Given the description of an element on the screen output the (x, y) to click on. 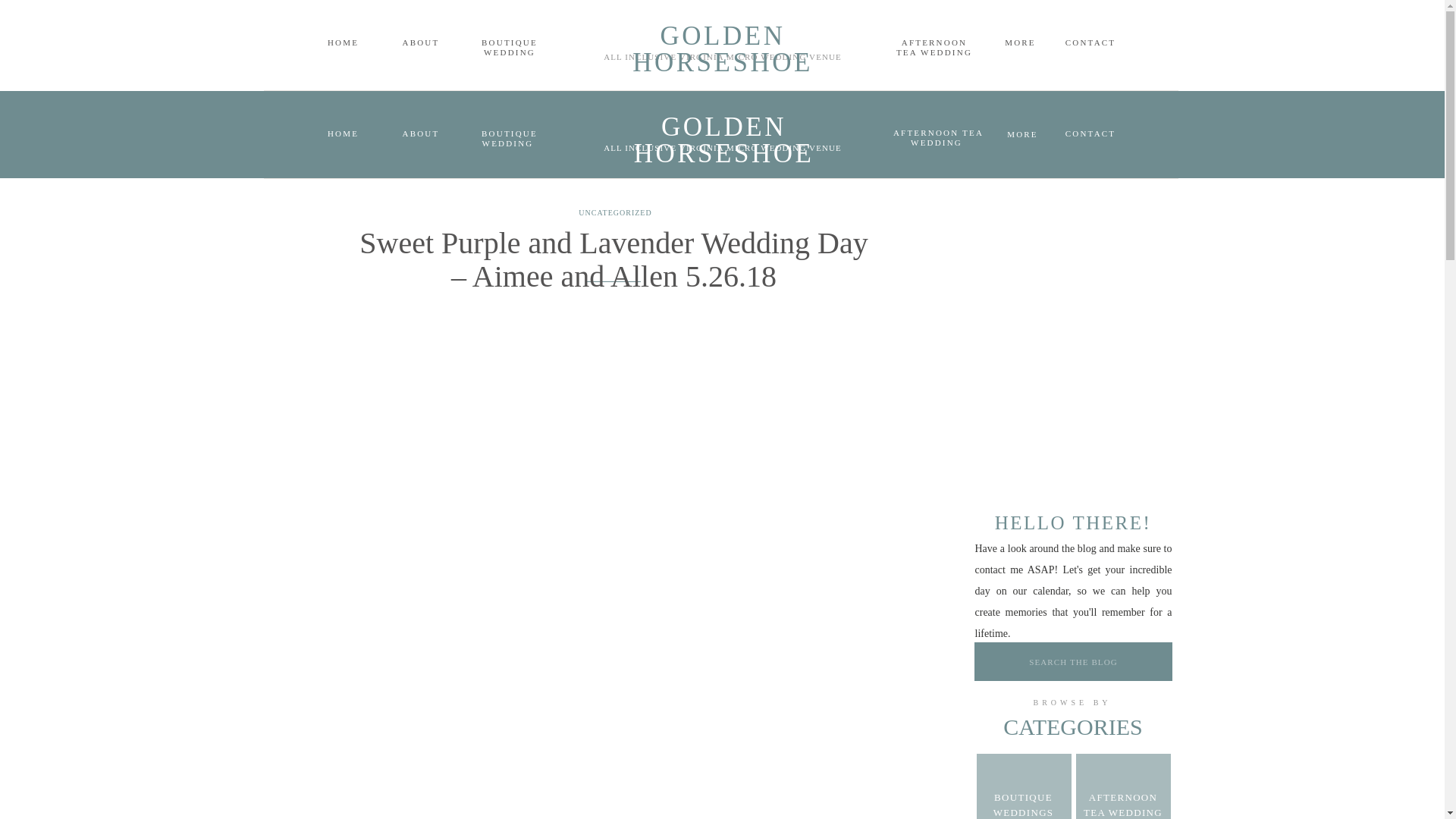
CONTACT (1090, 134)
AFTERNOON TEA WEDDING  (937, 138)
MORE (1020, 41)
ABOUT (420, 41)
GOLDEN HORSESHOE (723, 125)
AFTERNOON TEA WEDDING (933, 46)
MORE (1022, 133)
BOUTIQUE WEDDINGS (1023, 803)
GOLDEN HORSESHOE (722, 34)
